Given the description of an element on the screen output the (x, y) to click on. 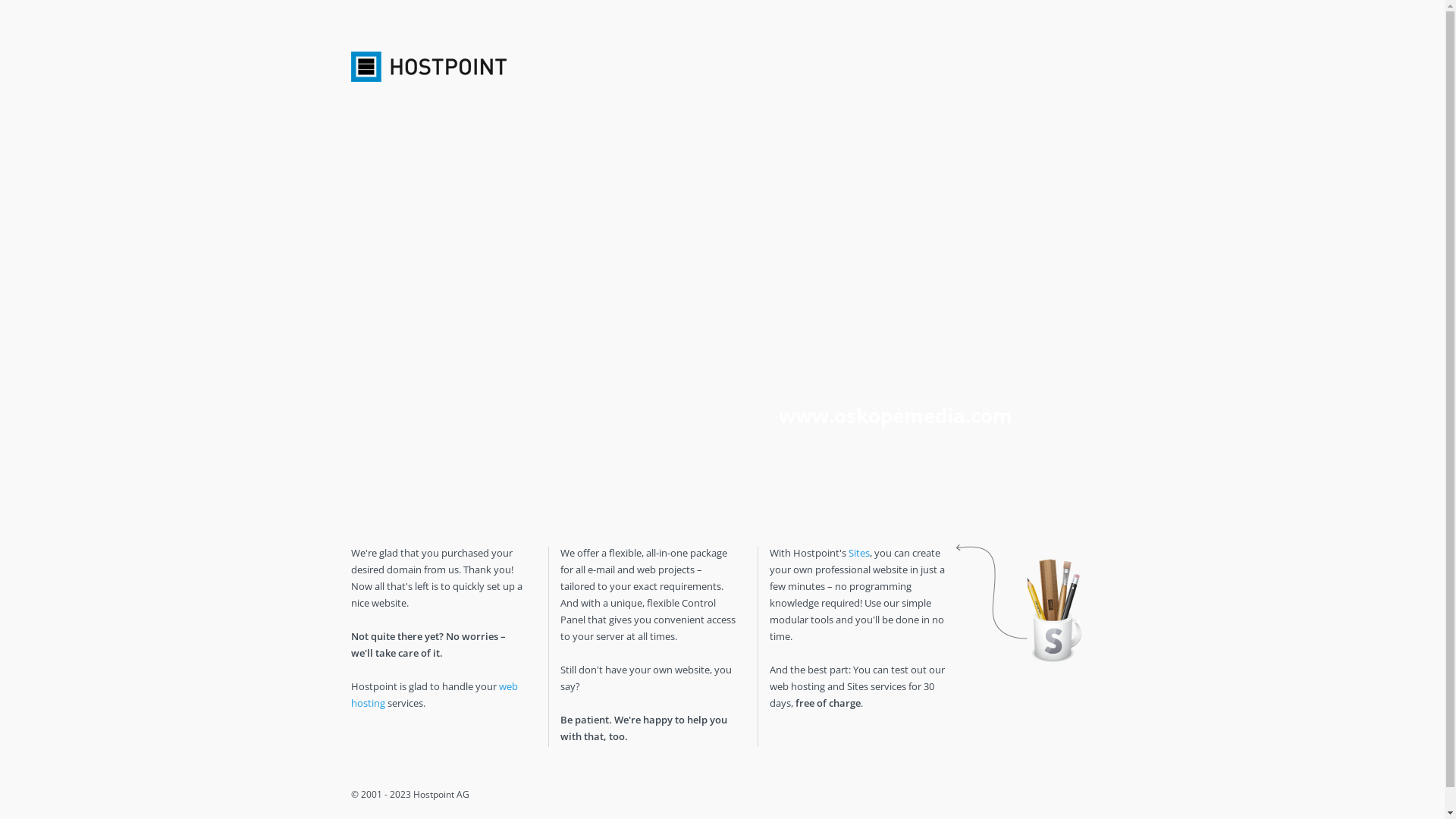
Sites Element type: text (858, 552)
web hosting Element type: text (433, 694)
